Given the description of an element on the screen output the (x, y) to click on. 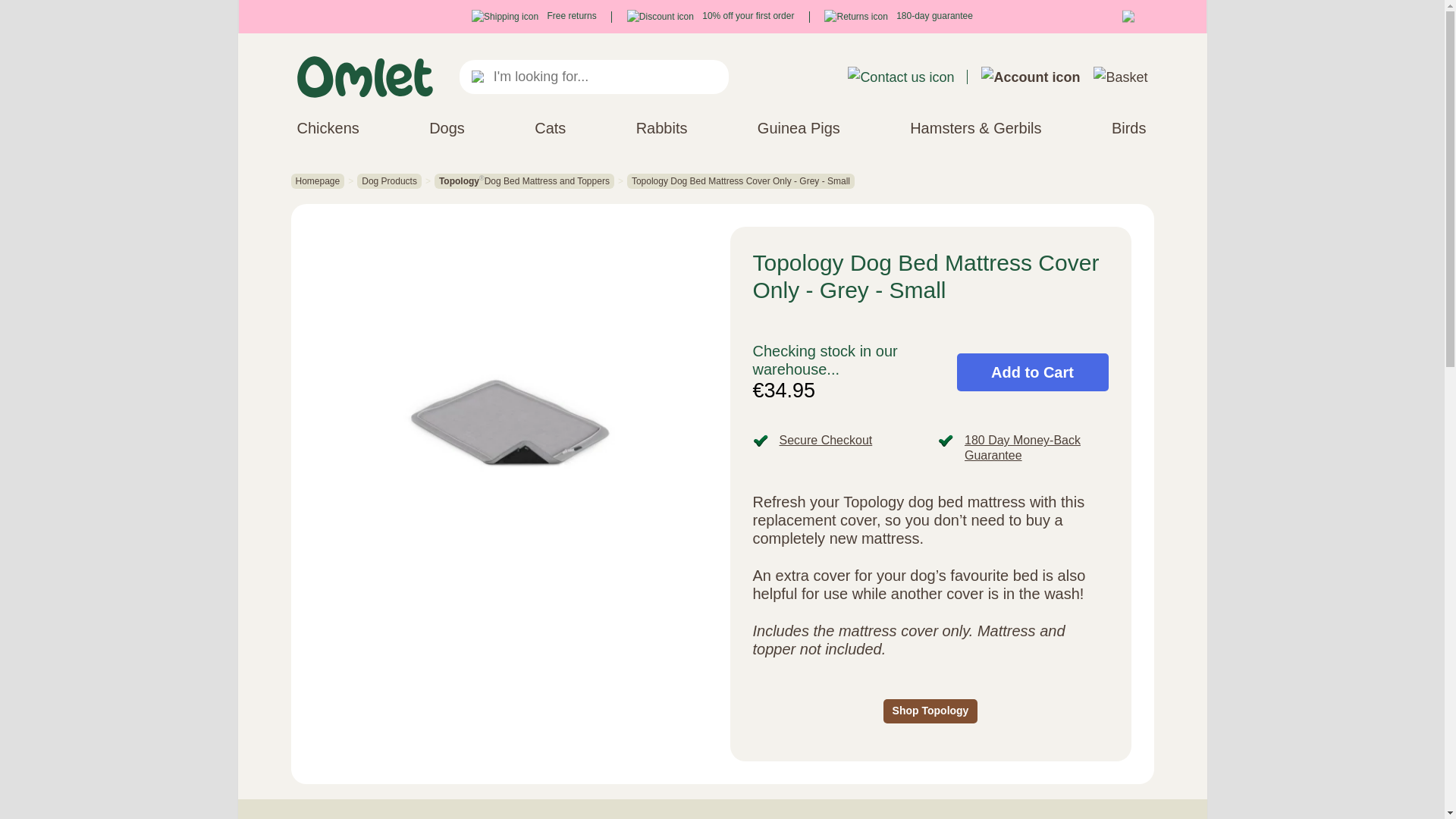
Contact us (900, 77)
Account (1030, 77)
Basket (1120, 77)
Shipping (504, 16)
Discount icon (660, 16)
Free returns (533, 15)
Chickens (328, 127)
Omlet (364, 76)
180-day guarantee (898, 15)
Returns icon (855, 16)
